Given the description of an element on the screen output the (x, y) to click on. 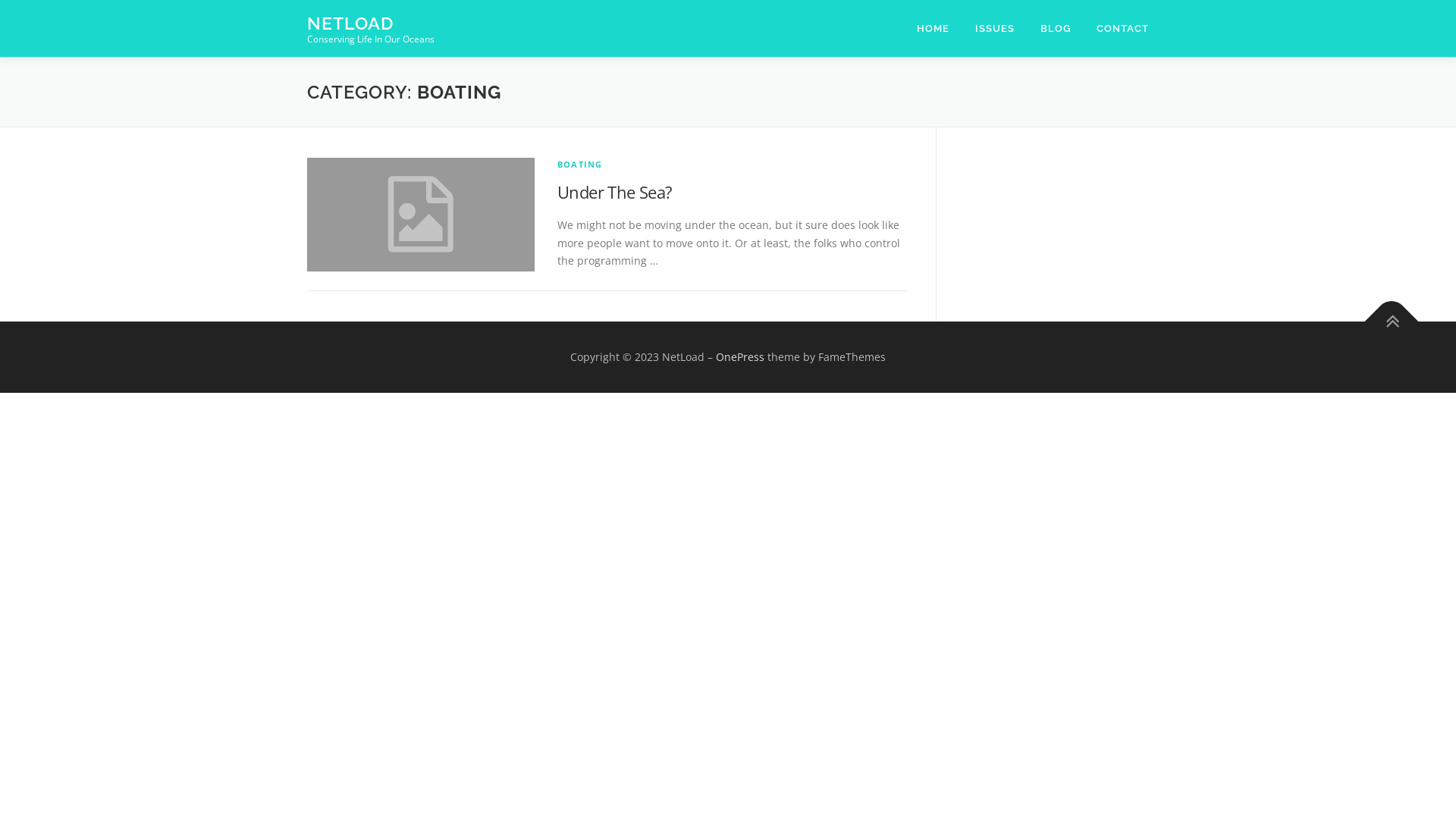
BLOG Element type: text (1055, 28)
Skip to content Element type: text (37, 9)
Back To Top Element type: hover (1383, 313)
HOME Element type: text (932, 28)
BOATING Element type: text (579, 163)
Under The Sea? Element type: text (614, 191)
OnePress Element type: text (739, 356)
ISSUES Element type: text (994, 28)
CONTACT Element type: text (1115, 28)
NETLOAD Element type: text (350, 22)
